Given the description of an element on the screen output the (x, y) to click on. 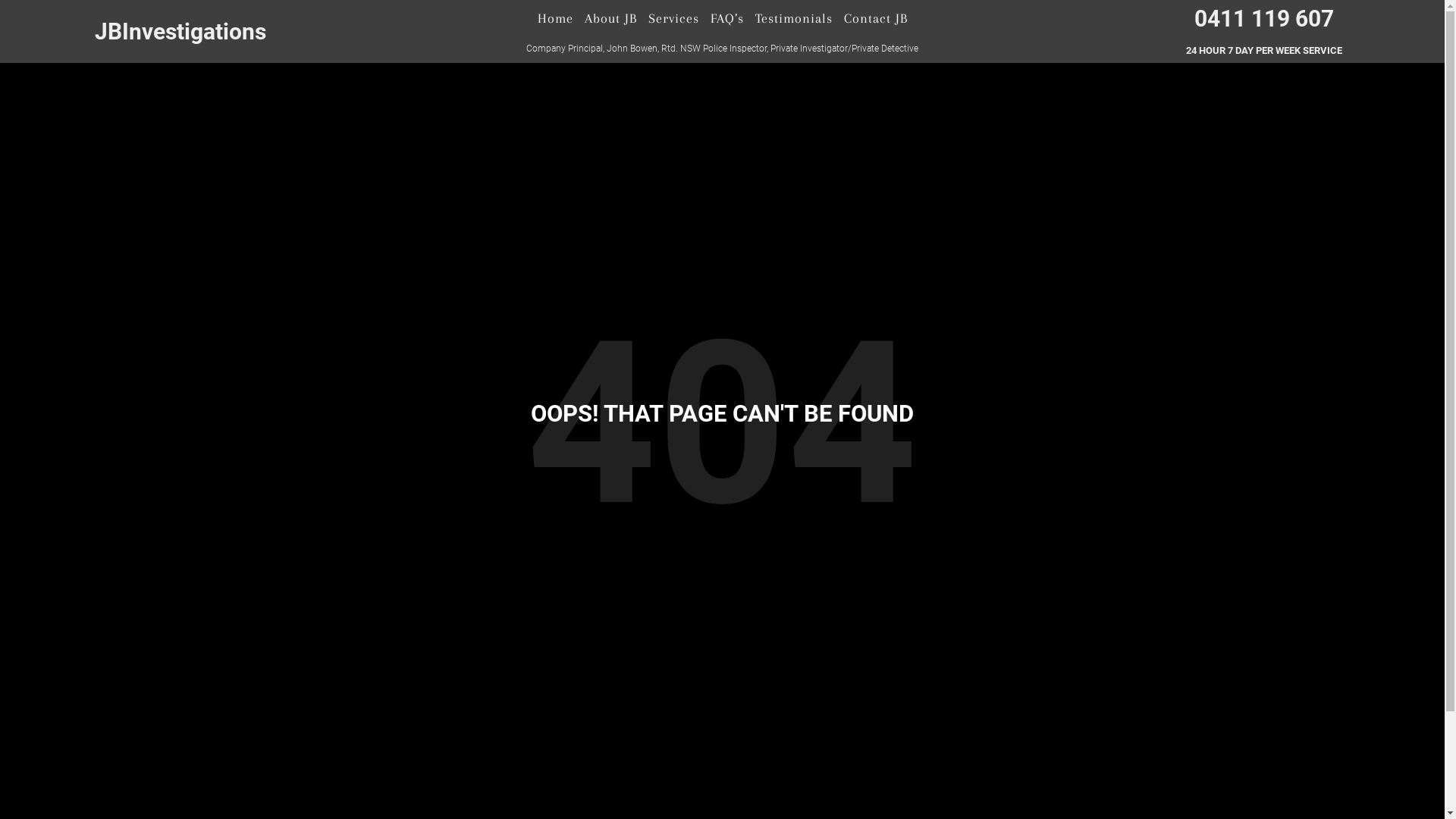
Home Element type: text (555, 17)
Services Element type: text (673, 17)
JBInvestigations Element type: text (180, 31)
Testimonials Element type: text (792, 17)
About JB Element type: text (610, 17)
Contact JB Element type: text (875, 17)
0411 119 607 Element type: text (1263, 18)
